Given the description of an element on the screen output the (x, y) to click on. 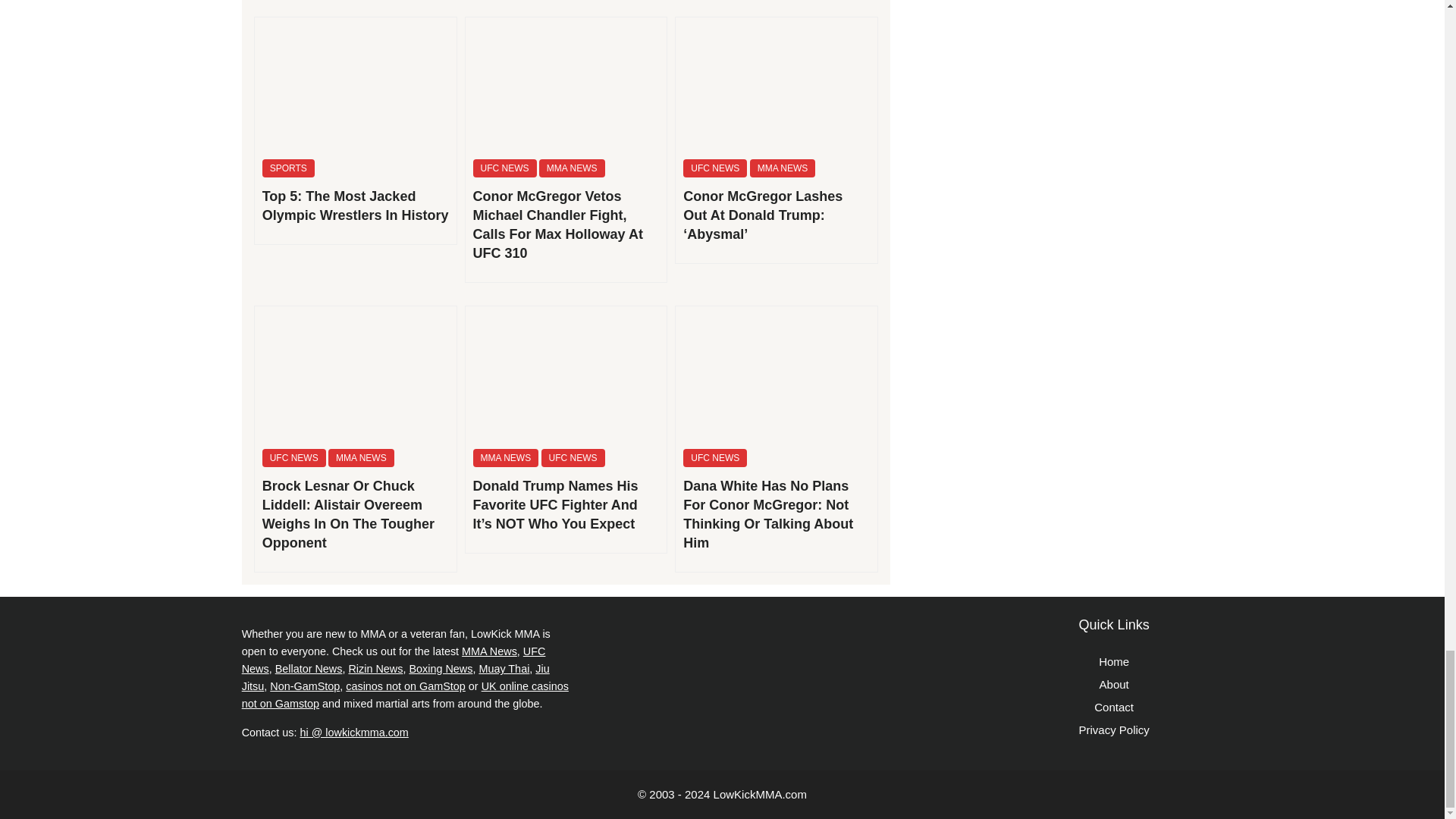
Conor McGregor lashes out at Donald Trump: 'Abysmal' 4 (776, 84)
Top 5: The Most Jacked Olympic Wrestlers in History 2 (355, 84)
